Given the description of an element on the screen output the (x, y) to click on. 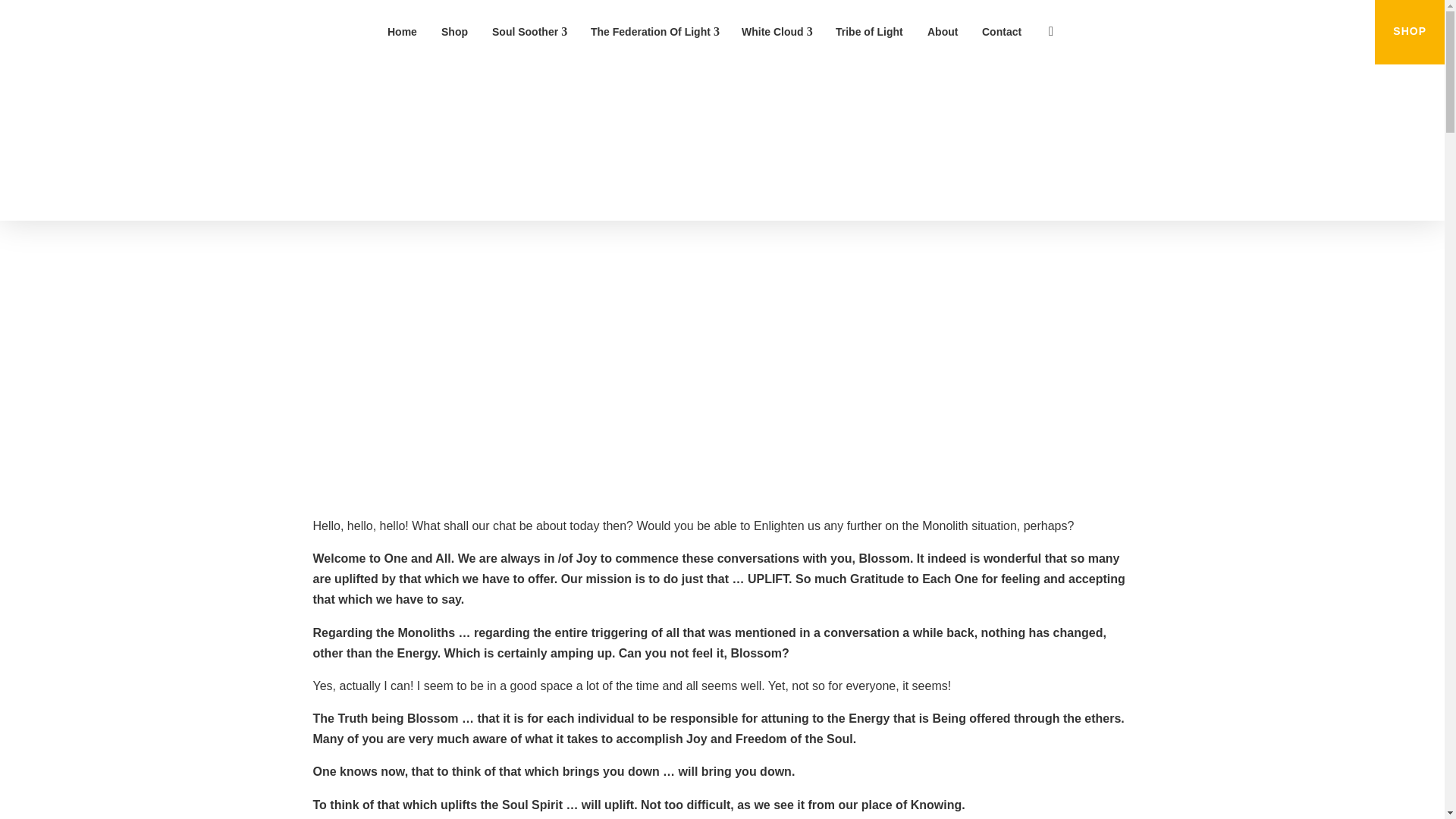
The Federation Of Light (654, 31)
Soul Soother (529, 31)
White Cloud (776, 31)
Posts by Blossom Goodchild (662, 356)
